Given the description of an element on the screen output the (x, y) to click on. 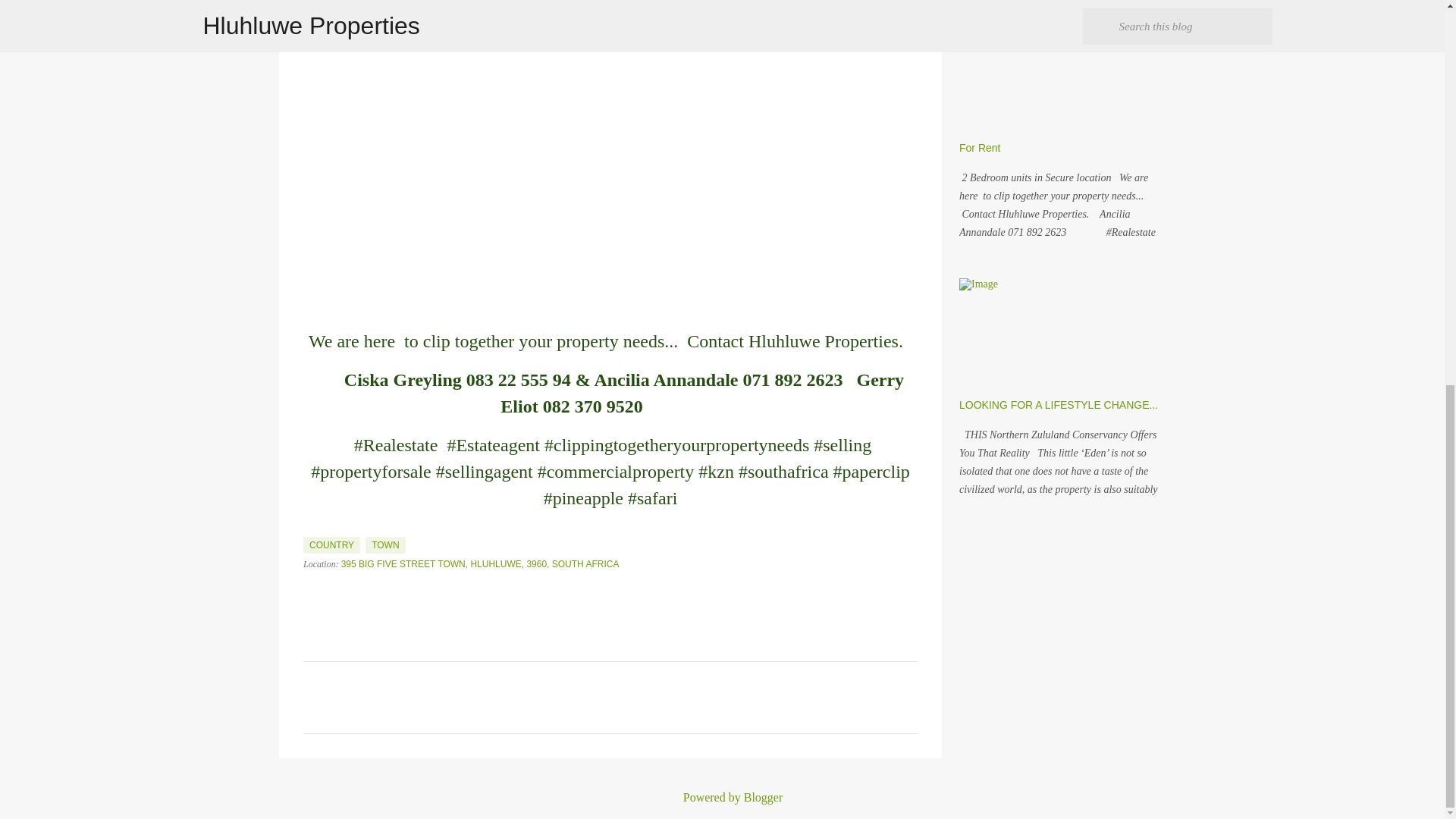
For Rent (979, 147)
Email Post (311, 527)
Powered by Blogger (722, 797)
TOWN (384, 545)
LOOKING FOR A LIFESTYLE CHANGE... (1058, 404)
395 BIG FIVE STREET TOWN, HLUHLUWE, 3960, SOUTH AFRICA (480, 563)
COUNTRY (330, 545)
